Given the description of an element on the screen output the (x, y) to click on. 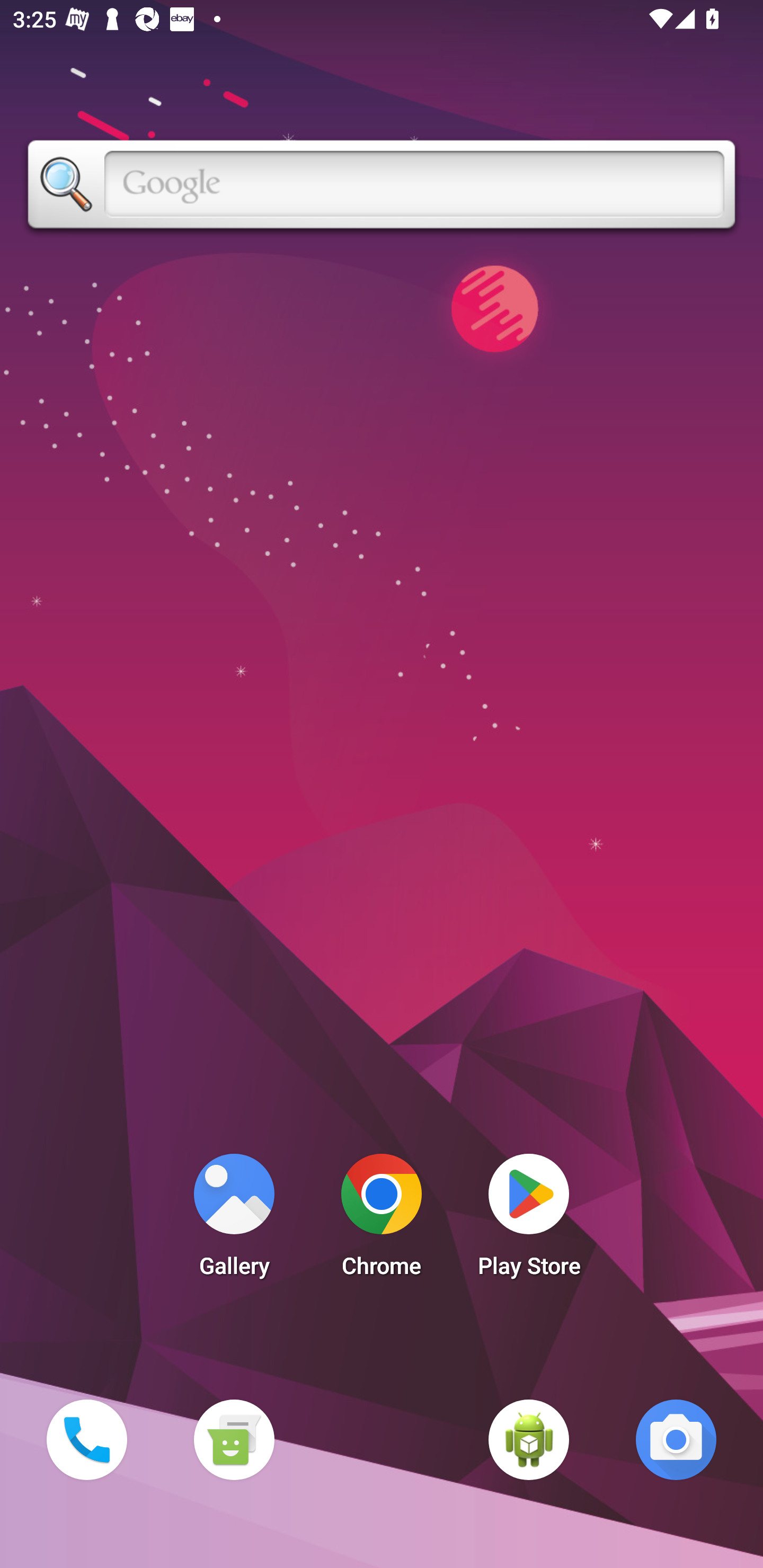
Gallery (233, 1220)
Chrome (381, 1220)
Play Store (528, 1220)
Phone (86, 1439)
Messaging (233, 1439)
WebView Browser Tester (528, 1439)
Camera (676, 1439)
